Given the description of an element on the screen output the (x, y) to click on. 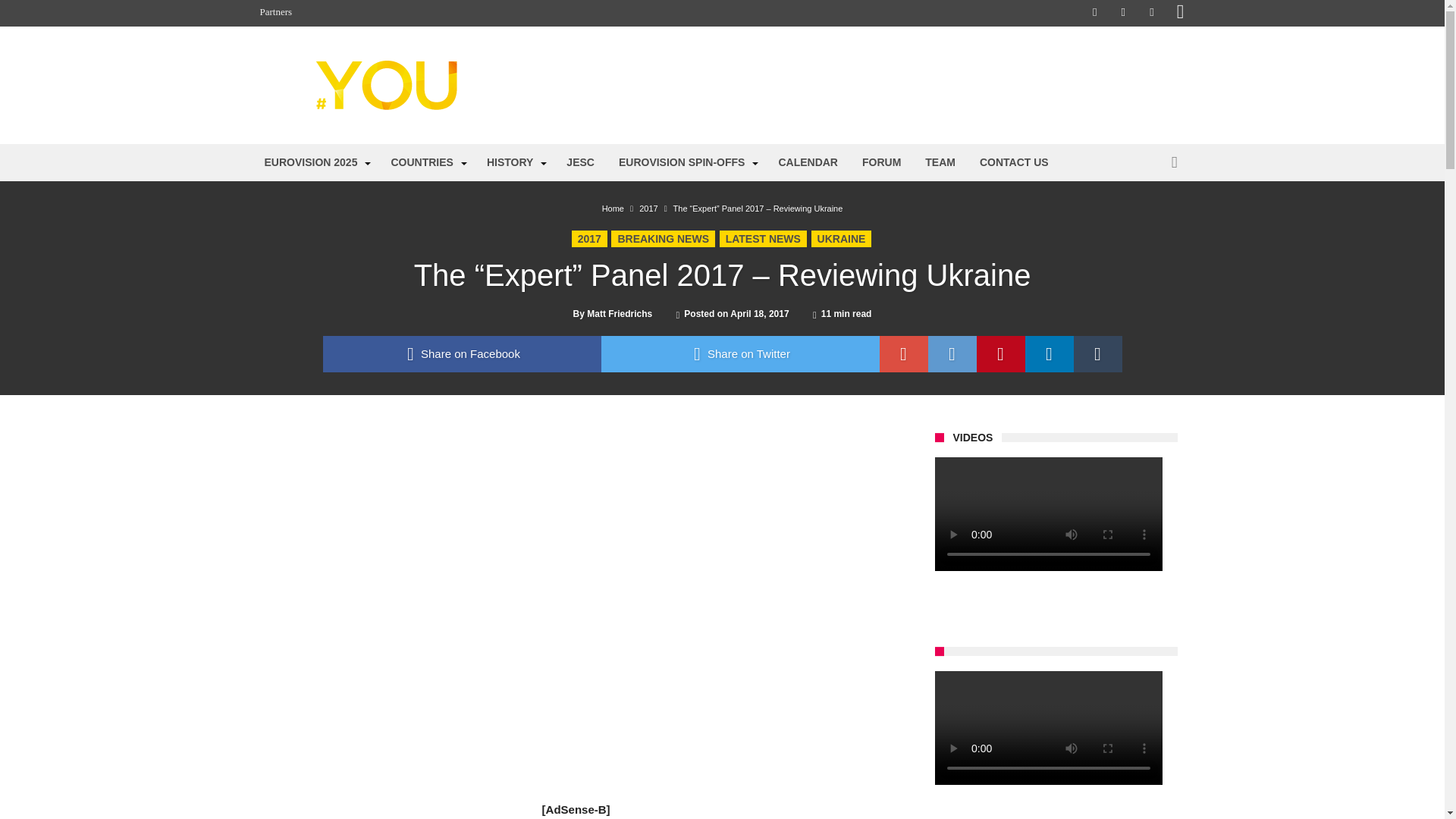
instagram (1179, 13)
Facebook (1094, 13)
COUNTRIES (426, 162)
EUROVISION 2025 (314, 162)
facebook (462, 353)
Forum (1133, 84)
Partners (275, 12)
google (903, 353)
escYOUnited (405, 59)
twitter (739, 353)
Twitter (1122, 13)
Youtube (1151, 13)
